Given the description of an element on the screen output the (x, y) to click on. 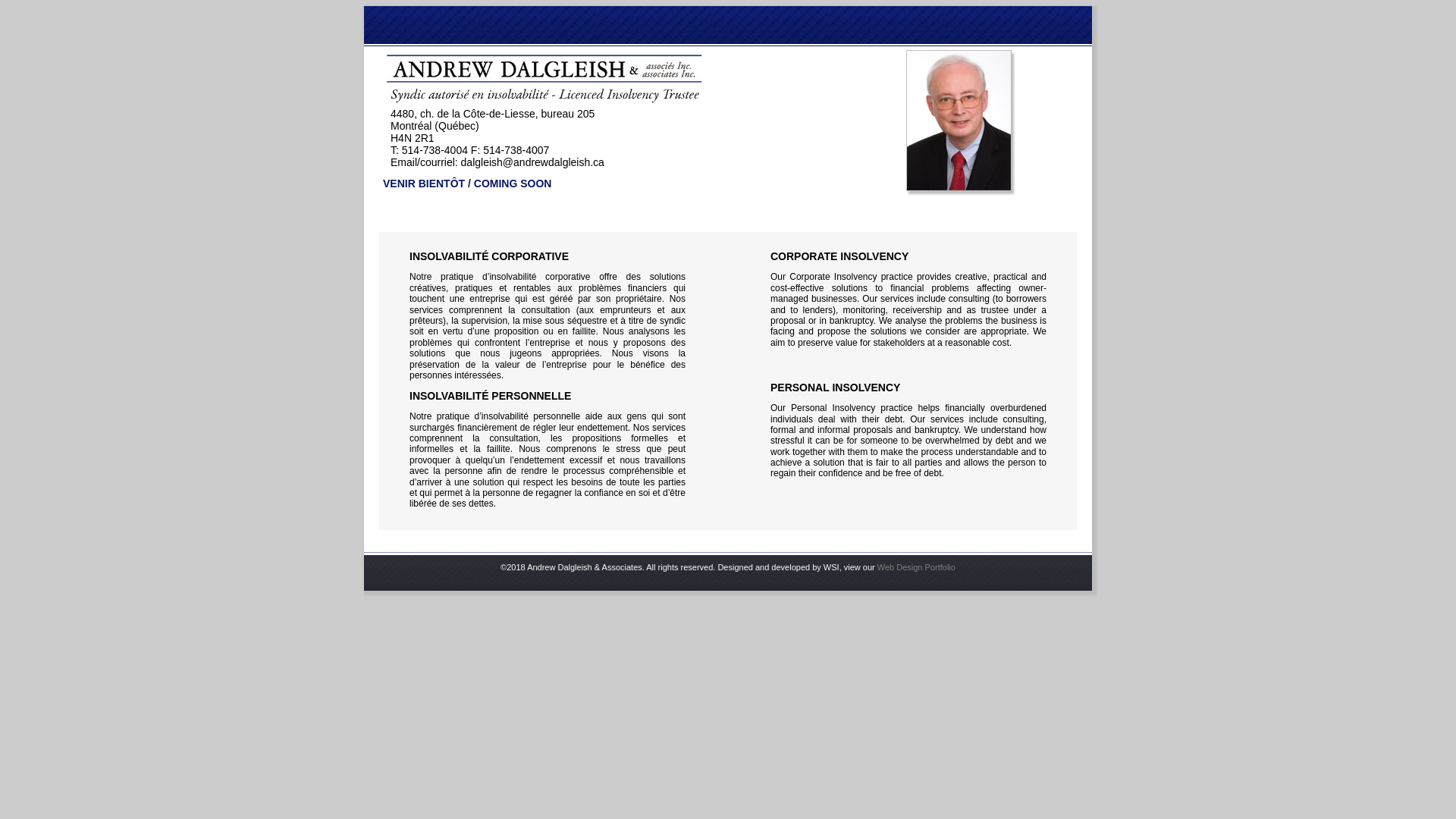
Web Design Portfolio Element type: text (916, 566)
